Given the description of an element on the screen output the (x, y) to click on. 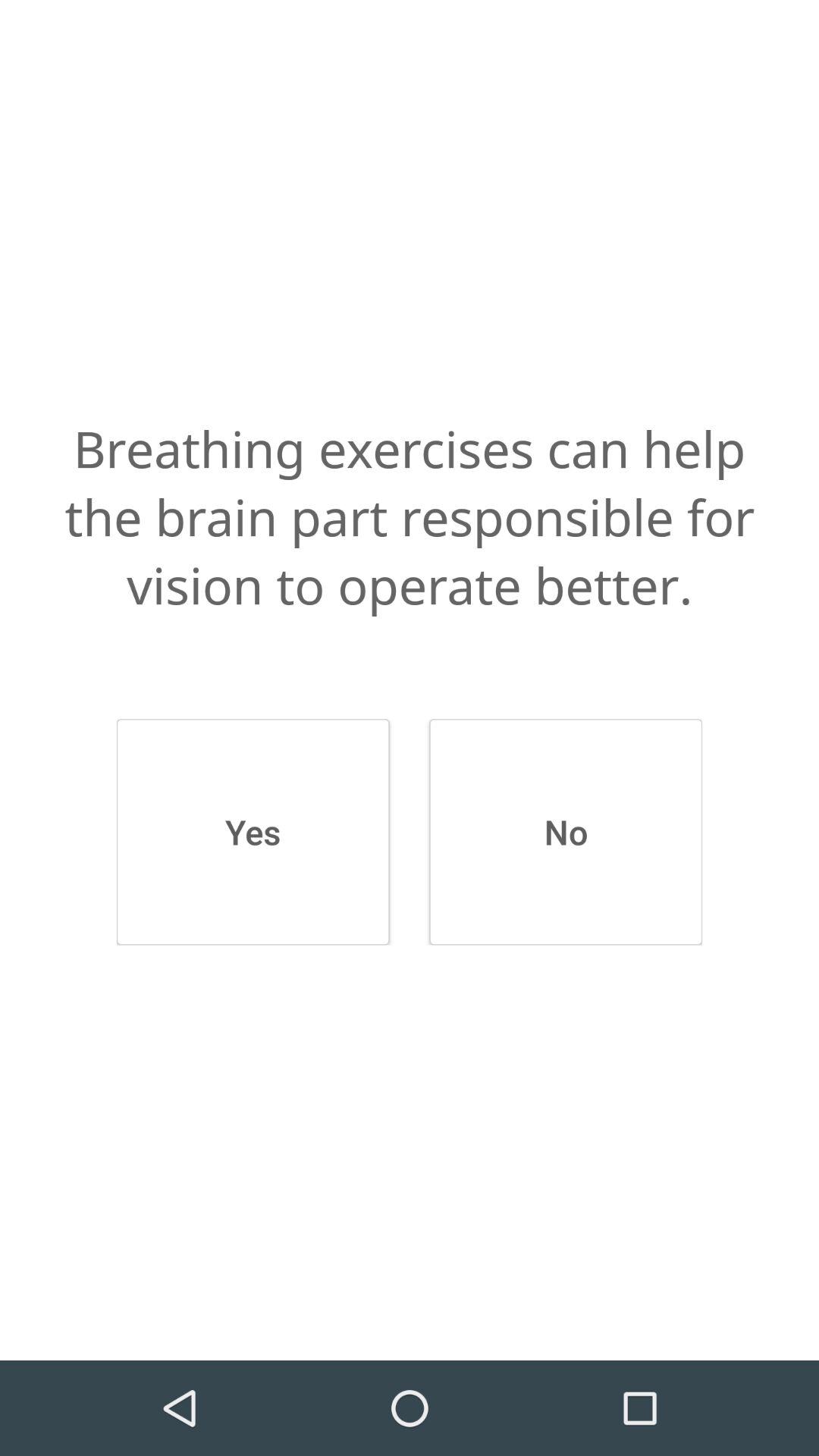
open the icon on the right (565, 831)
